Given the description of an element on the screen output the (x, y) to click on. 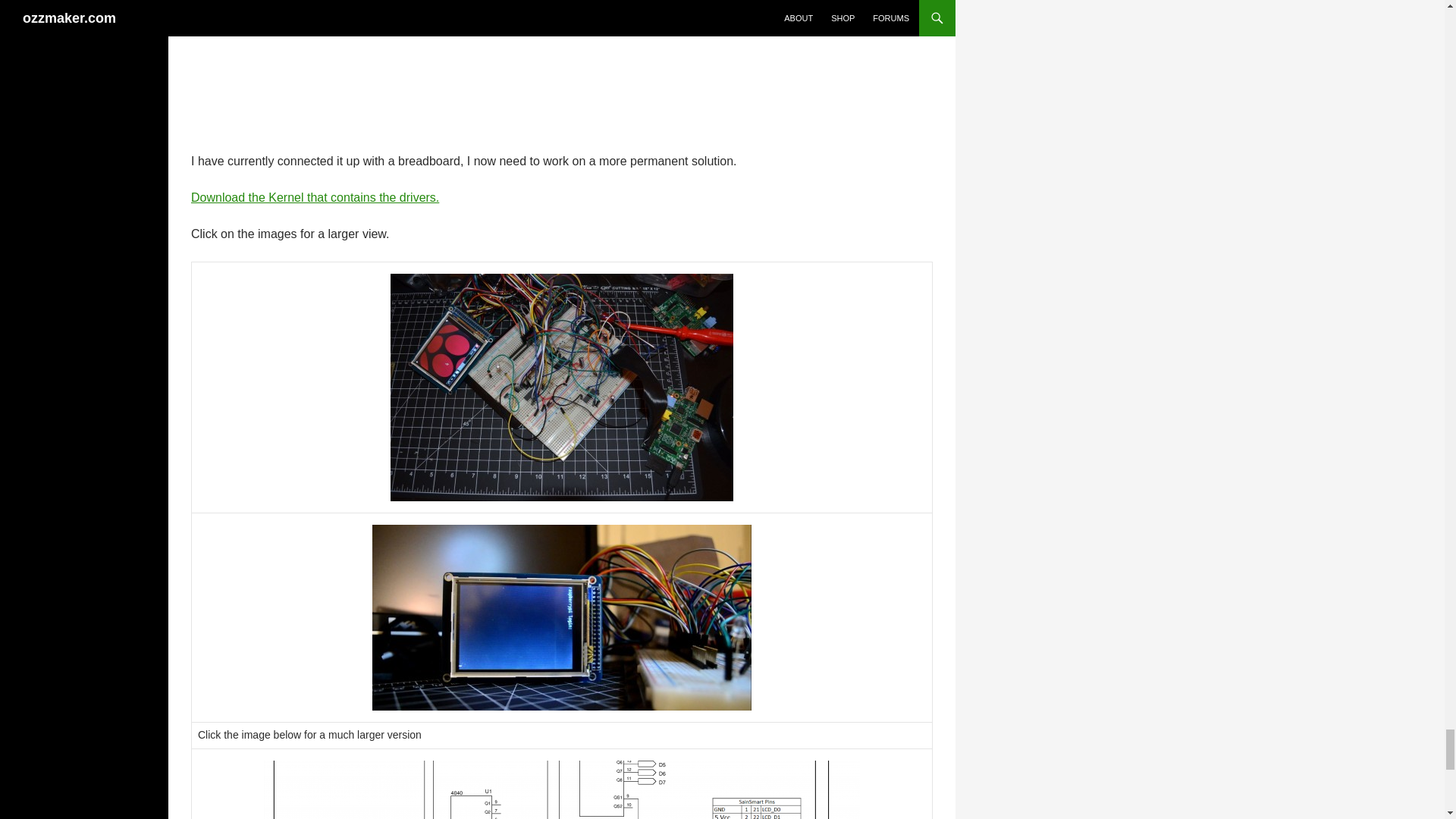
Download the Kernel that contains the drivers here. (314, 196)
